Given the description of an element on the screen output the (x, y) to click on. 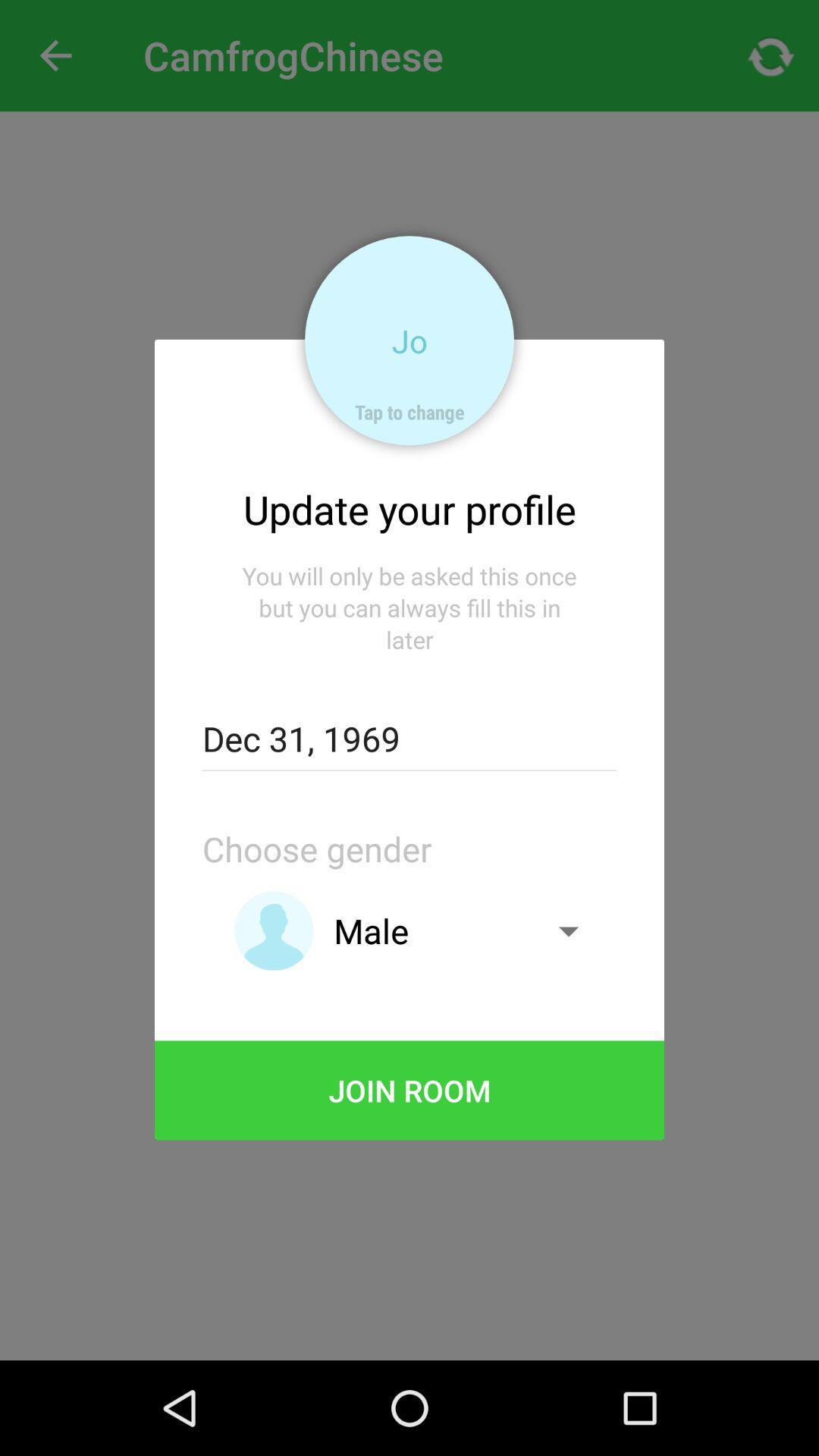
turn on join room icon (409, 1090)
